Given the description of an element on the screen output the (x, y) to click on. 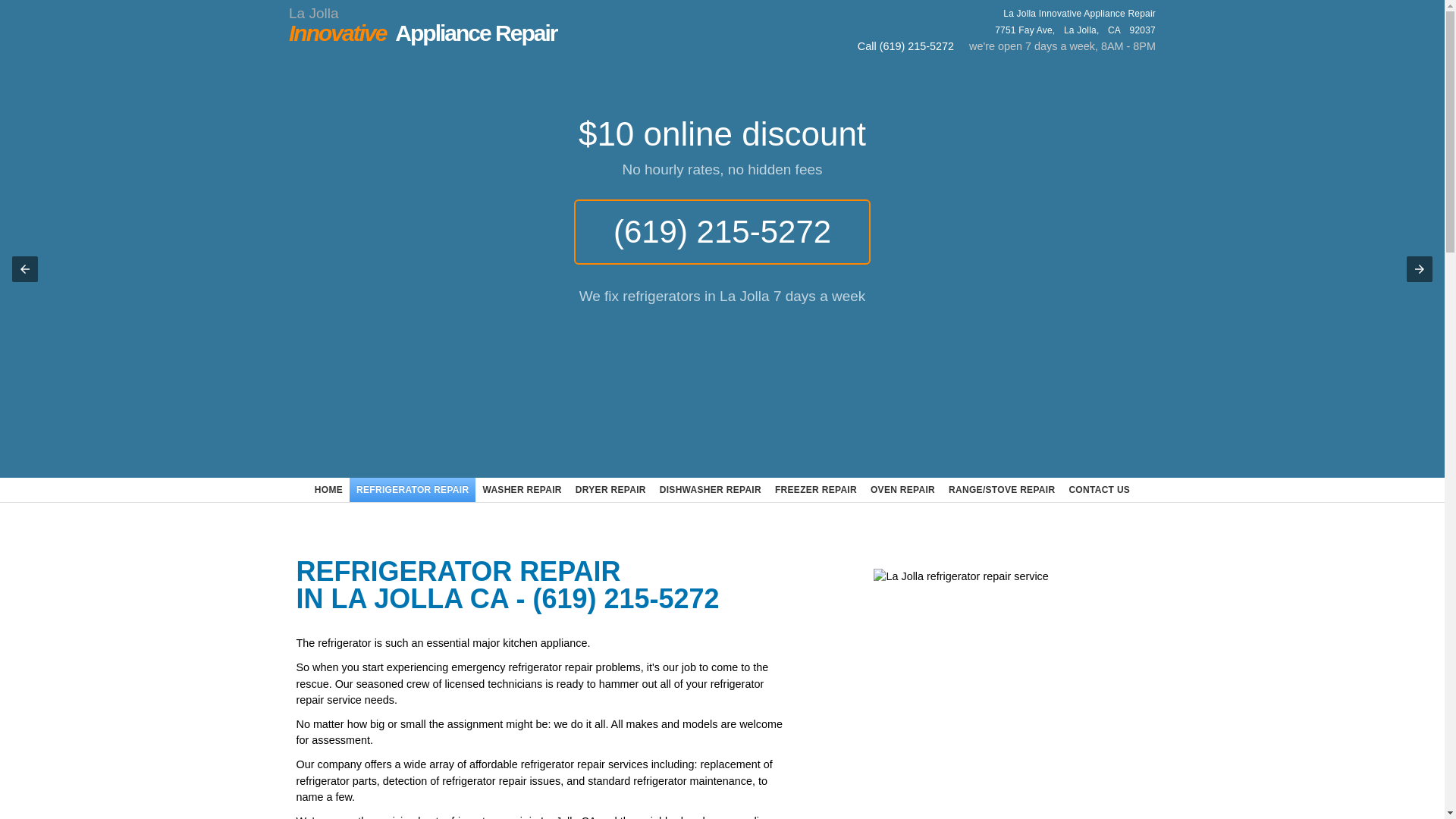
Refrigerator repair in La Jolla, CA (412, 489)
FREEZER REPAIR (815, 489)
Oven repair in La Jolla, CA (902, 489)
Washer repair in La Jolla, CA (521, 489)
La Jolla refrigerator repair service (986, 693)
OVEN REPAIR (902, 489)
Contact Us in La Jolla, CA (1099, 489)
Dryer repair in La Jolla, CA (610, 489)
Dishwasher repair in La Jolla, CA (710, 489)
Freezer repair in La Jolla, CA (465, 24)
DISHWASHER REPAIR (815, 489)
CONTACT US (710, 489)
REFRIGERATOR REPAIR (1099, 489)
DRYER REPAIR (412, 489)
